Given the description of an element on the screen output the (x, y) to click on. 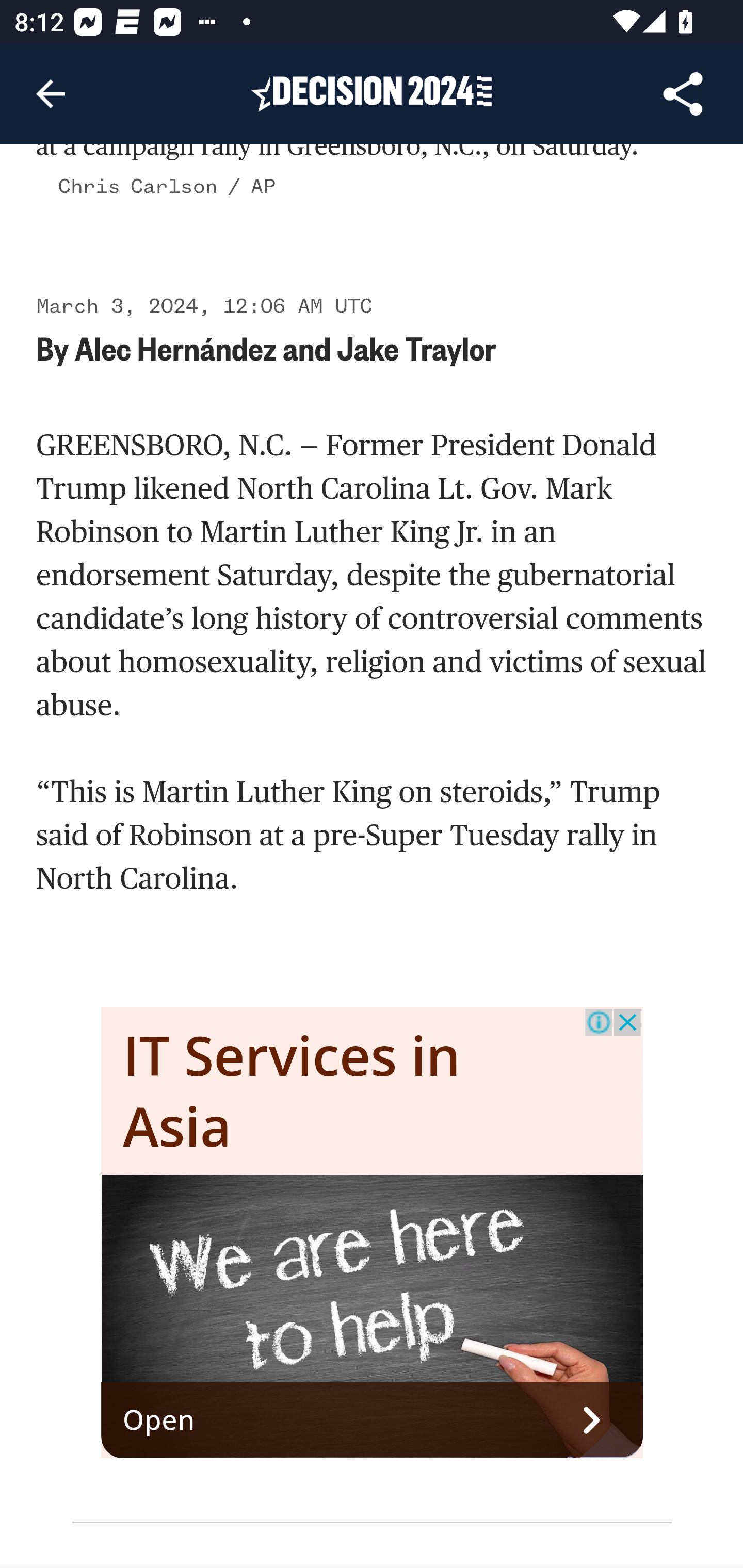
Navigate up (50, 93)
Share Article, button (683, 94)
Header, Decision 2024 (371, 93)
IT Services in Asia IT Services in Asia (292, 1089)
Open (372, 1419)
